Given the description of an element on the screen output the (x, y) to click on. 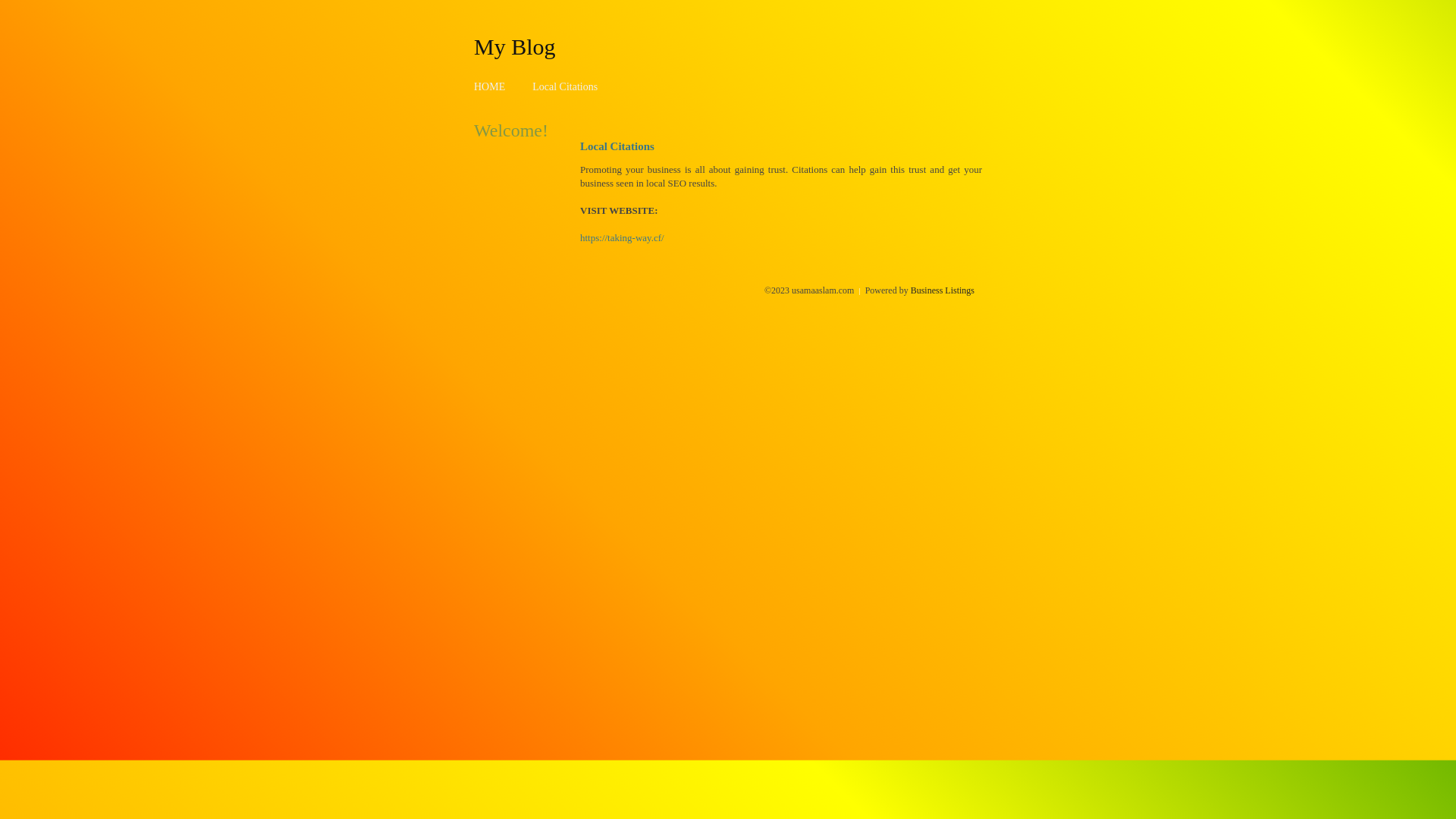
Business Listings Element type: text (942, 290)
Local Citations Element type: text (564, 86)
HOME Element type: text (489, 86)
My Blog Element type: text (514, 46)
https://taking-way.cf/ Element type: text (622, 237)
